Given the description of an element on the screen output the (x, y) to click on. 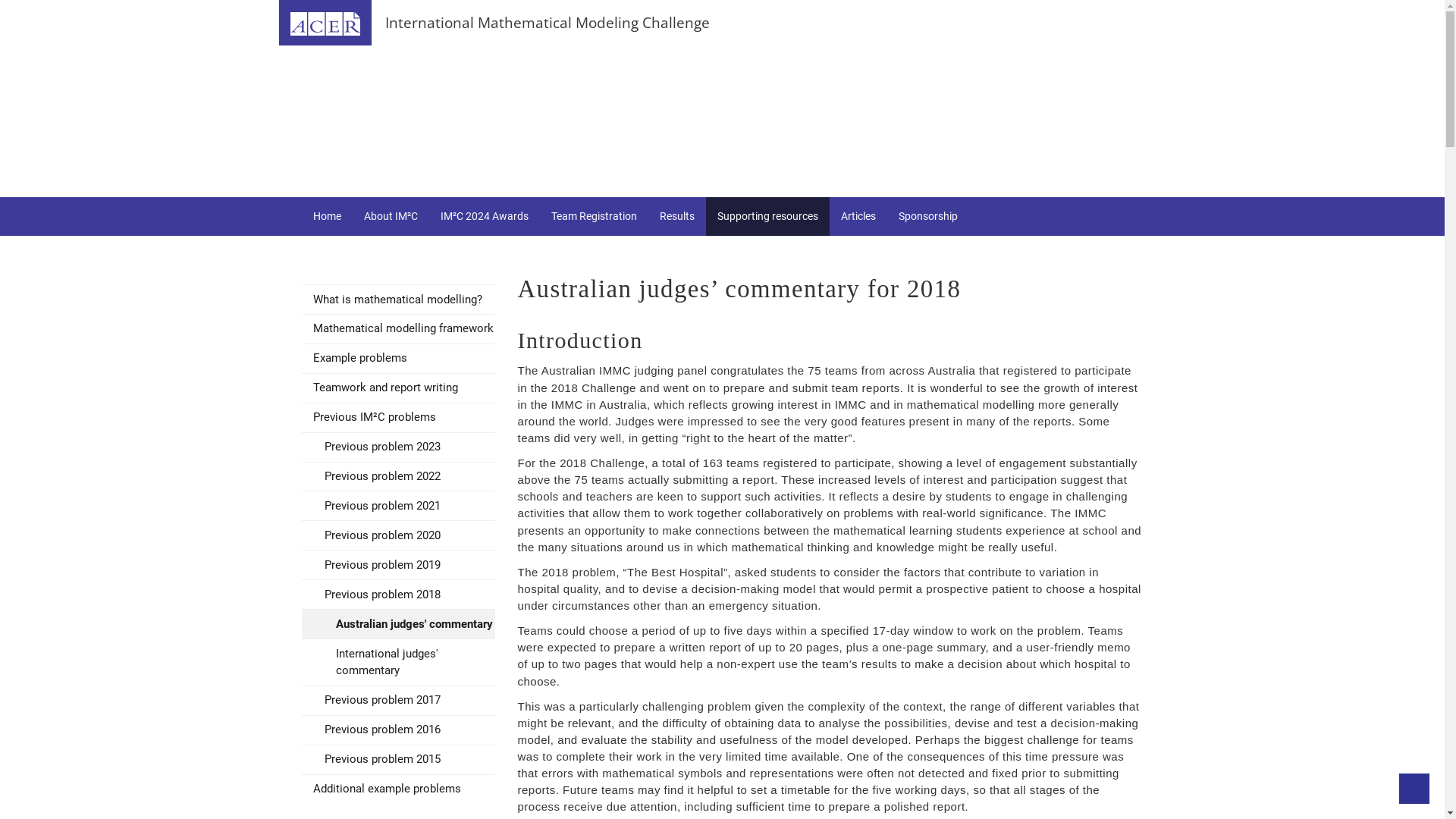
Team Registration Element type: text (593, 216)
Australian judges' commentary Element type: text (398, 623)
Previous problem 2018 Element type: text (398, 594)
Home Element type: text (326, 216)
Previous problem 2021 Element type: text (398, 505)
Previous problem 2022 Element type: text (398, 476)
International judges' commentary Element type: text (398, 662)
Australian Council for Educational Research Element type: hover (325, 22)
Sponsorship Element type: text (928, 216)
What is mathematical modelling? Element type: text (398, 299)
Teamwork and report writing Element type: text (398, 387)
Previous problem 2017 Element type: text (398, 700)
Previous problem 2016 Element type: text (398, 729)
Previous problem 2020 Element type: text (398, 534)
Additional example problems Element type: text (398, 789)
Articles Element type: text (858, 216)
Previous problem 2023 Element type: text (398, 447)
Previous problem 2015 Element type: text (398, 759)
Example problems Element type: text (398, 358)
Mathematical modelling framework Element type: text (398, 328)
Previous problem 2019 Element type: text (398, 564)
Supporting resources Element type: text (766, 216)
Results Element type: text (676, 216)
